Given the description of an element on the screen output the (x, y) to click on. 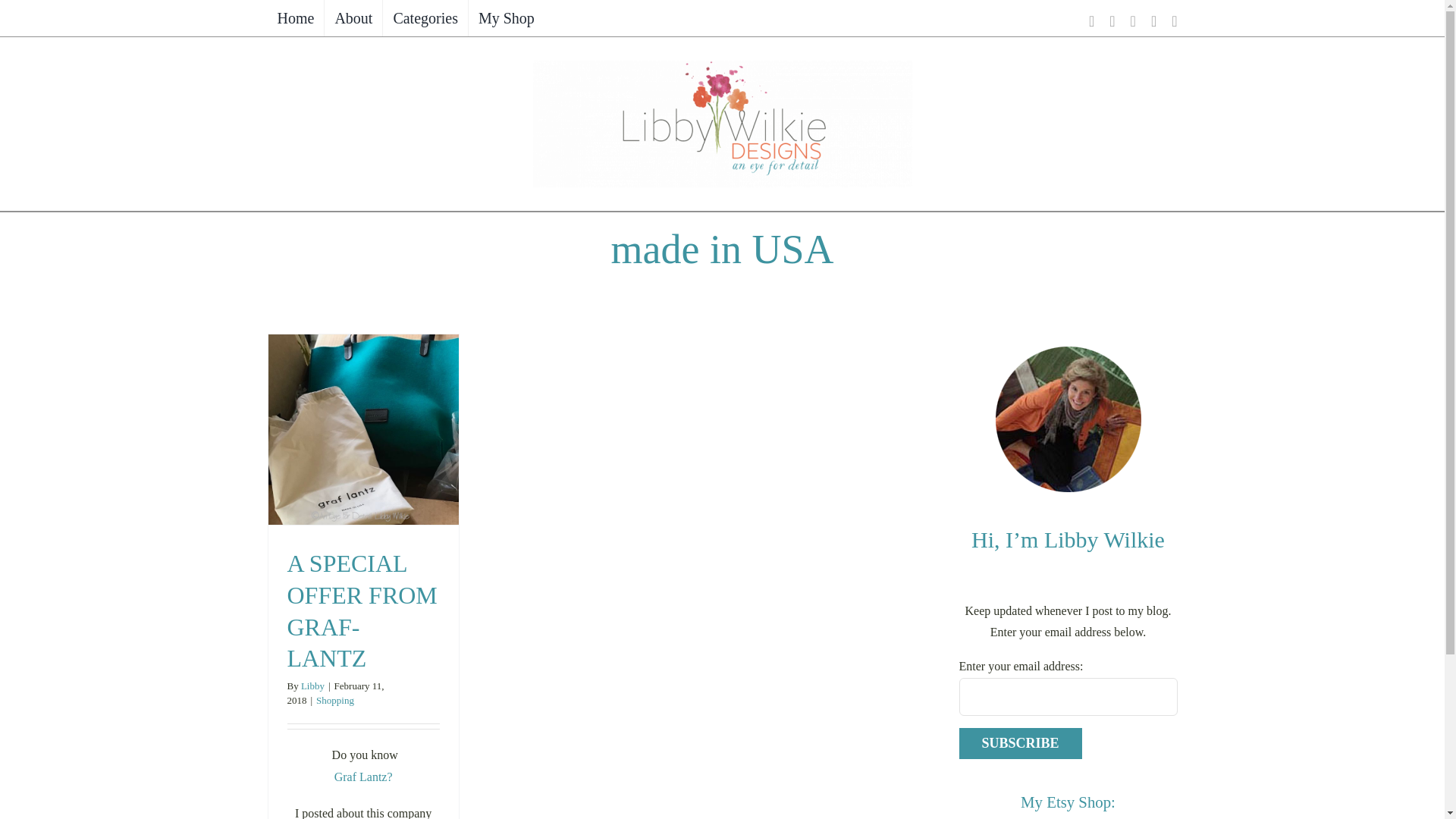
Home (294, 18)
Graf Lantz? (363, 776)
Categories (424, 18)
Subscribe (1019, 743)
Subscribe (1019, 743)
Shopping (334, 699)
Libby (312, 685)
A SPECIAL OFFER FROM GRAF- LANTZ (361, 610)
My Shop (506, 18)
Posts by Libby (312, 685)
About (352, 18)
